Given the description of an element on the screen output the (x, y) to click on. 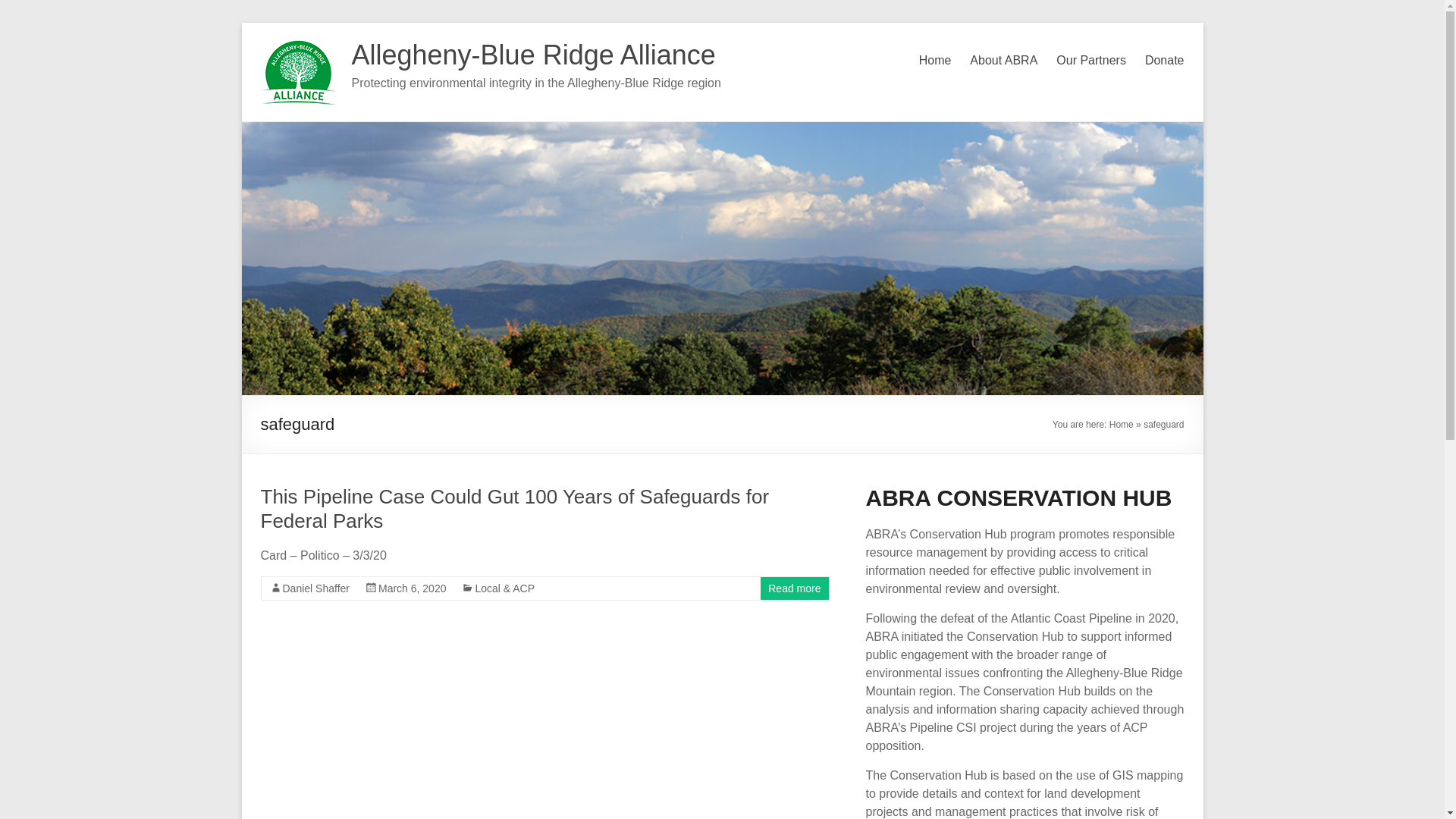
About ABRA (1002, 60)
Read more (794, 588)
11:16 am (412, 588)
March 6, 2020 (412, 588)
Our Partners (1091, 60)
Allegheny-Blue Ridge Alliance (534, 54)
Allegheny-Blue Ridge Alliance (534, 54)
Daniel Shaffer (315, 588)
Home (1121, 424)
Home (935, 60)
Donate (1164, 60)
